Given the description of an element on the screen output the (x, y) to click on. 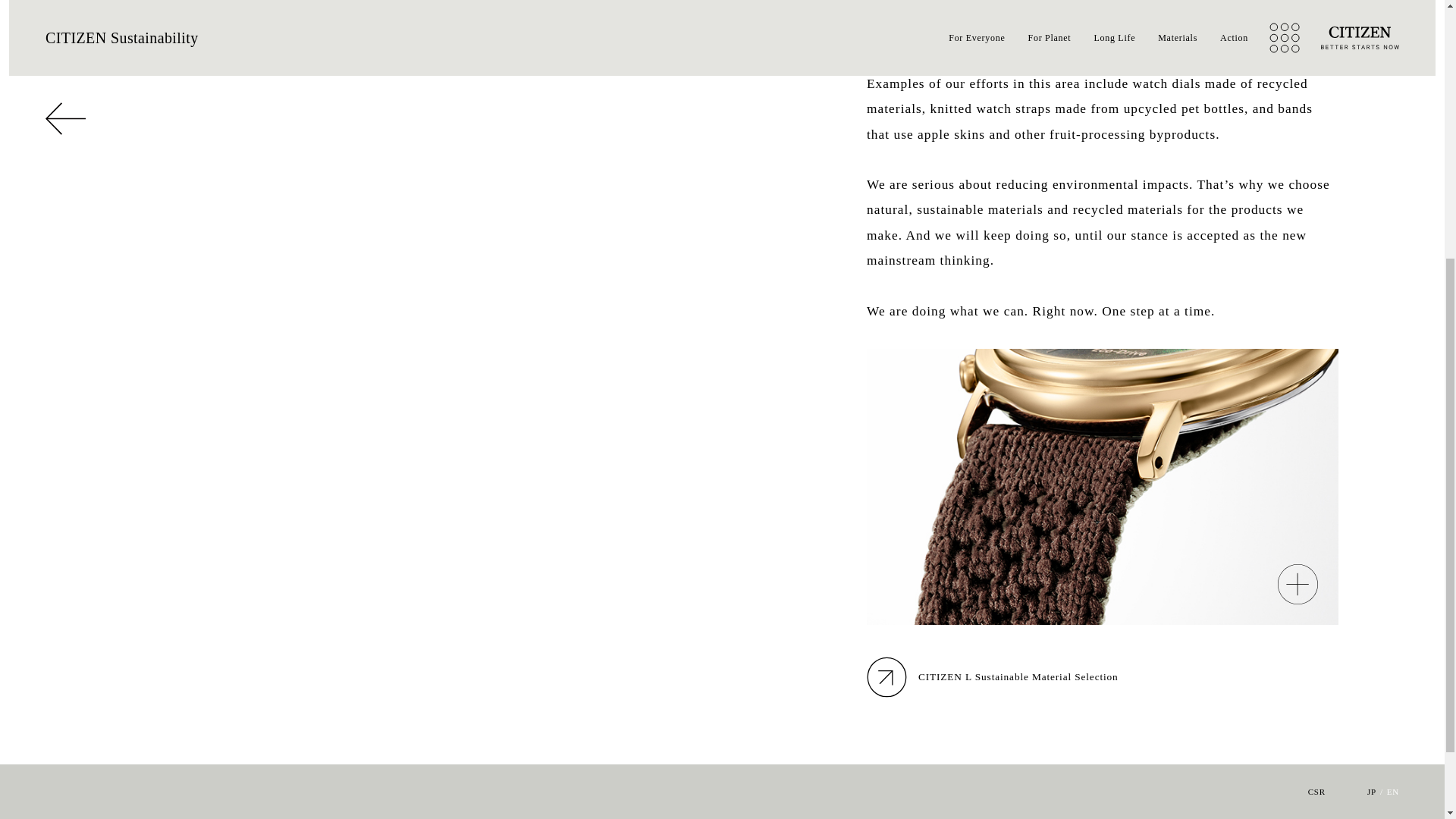
CITIZEN L Sustainable Material Selection (1102, 676)
Next Story (1338, 798)
Previous Story (117, 798)
